Given the description of an element on the screen output the (x, y) to click on. 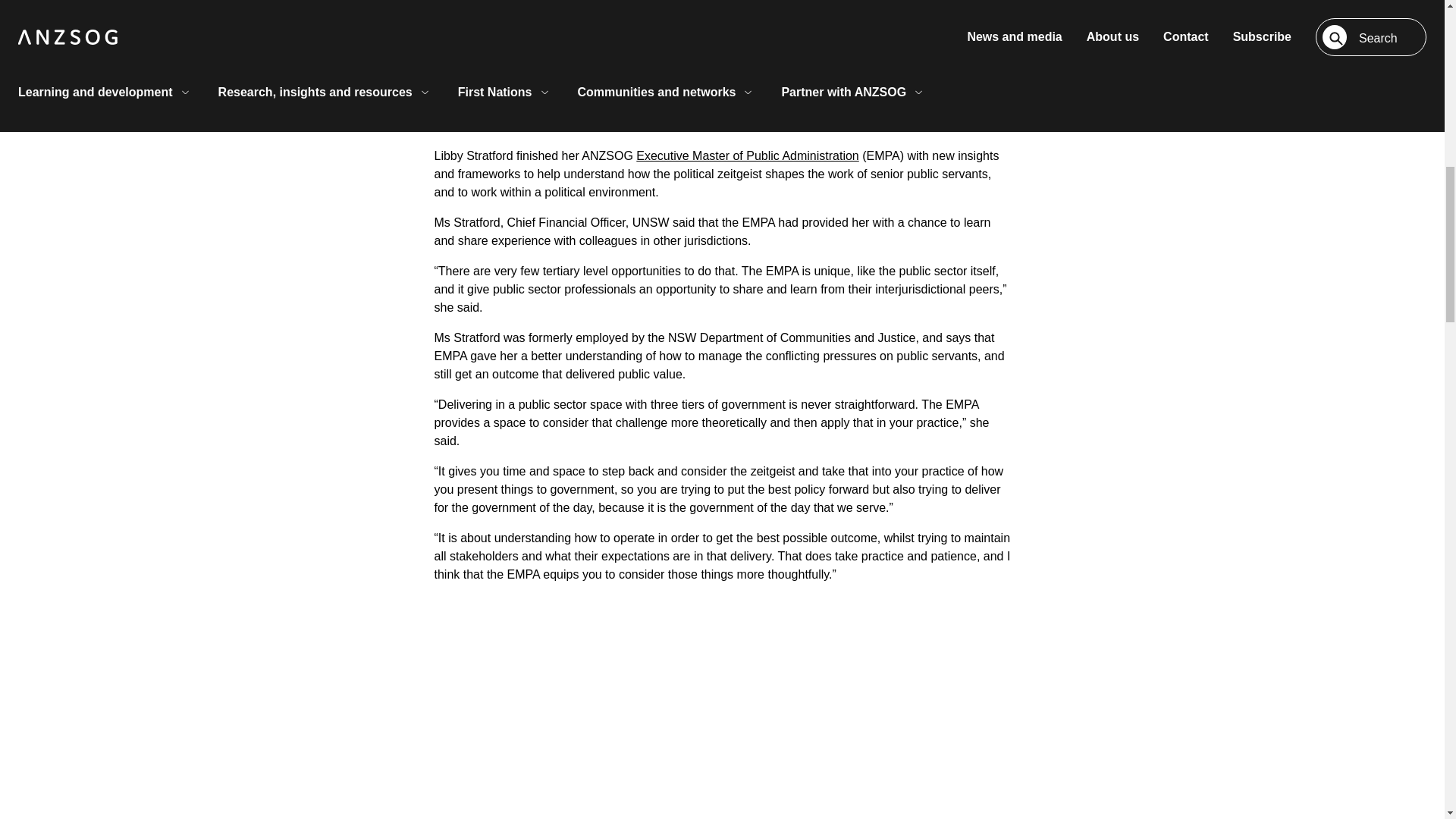
Libby Stratford - EMPA Alum (721, 737)
